Given the description of an element on the screen output the (x, y) to click on. 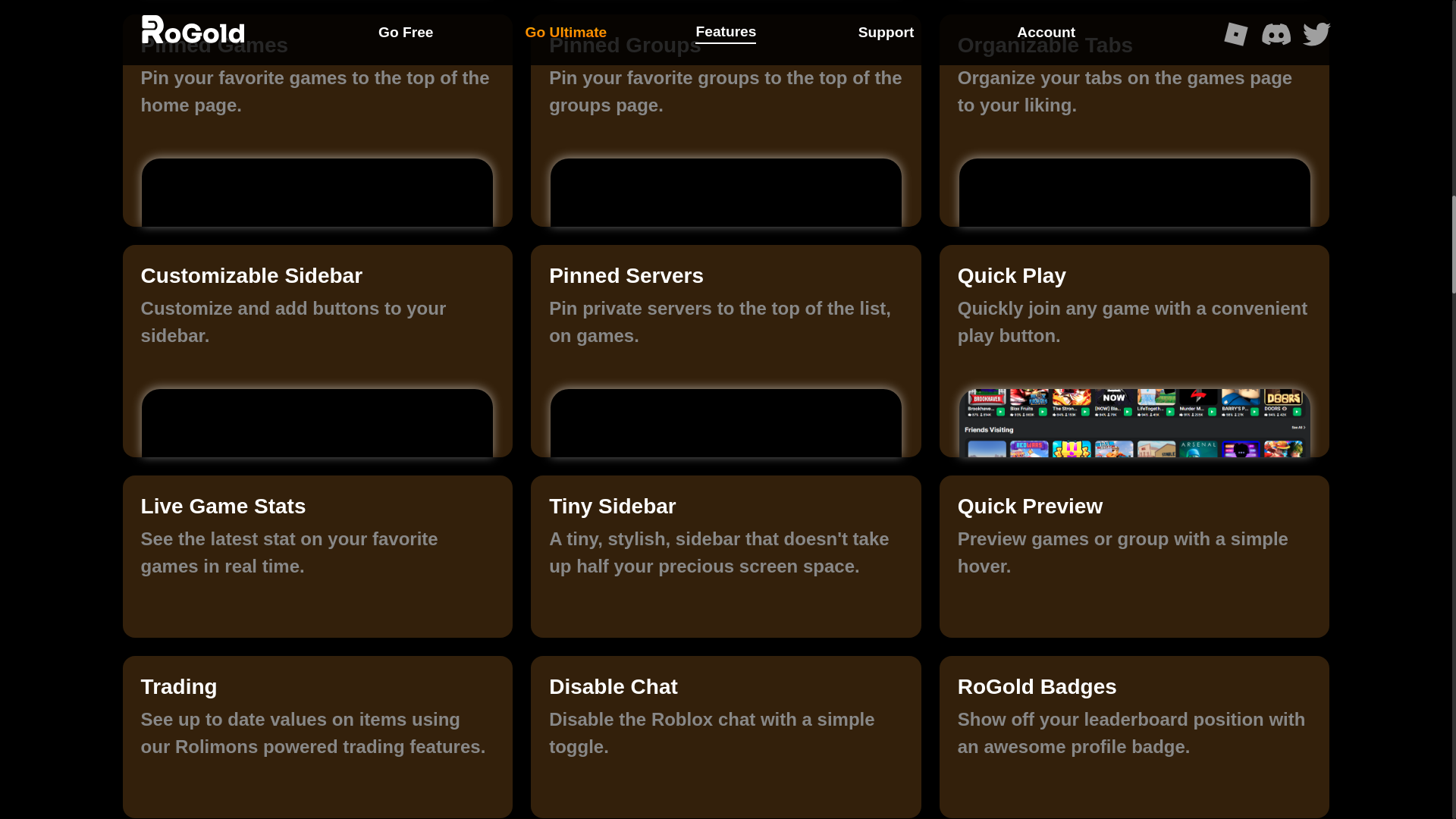
Pin private servers to the top of the list, on games. (725, 321)
Organize your tabs on the games page to your liking. (1134, 91)
Click to enlarge (1133, 423)
Preview games or group with a simple hover. (1134, 552)
Click to enlarge (725, 423)
Click to enlarge (1133, 192)
Click to enlarge (725, 192)
See the latest stat on your favorite games in real time. (318, 552)
